Given the description of an element on the screen output the (x, y) to click on. 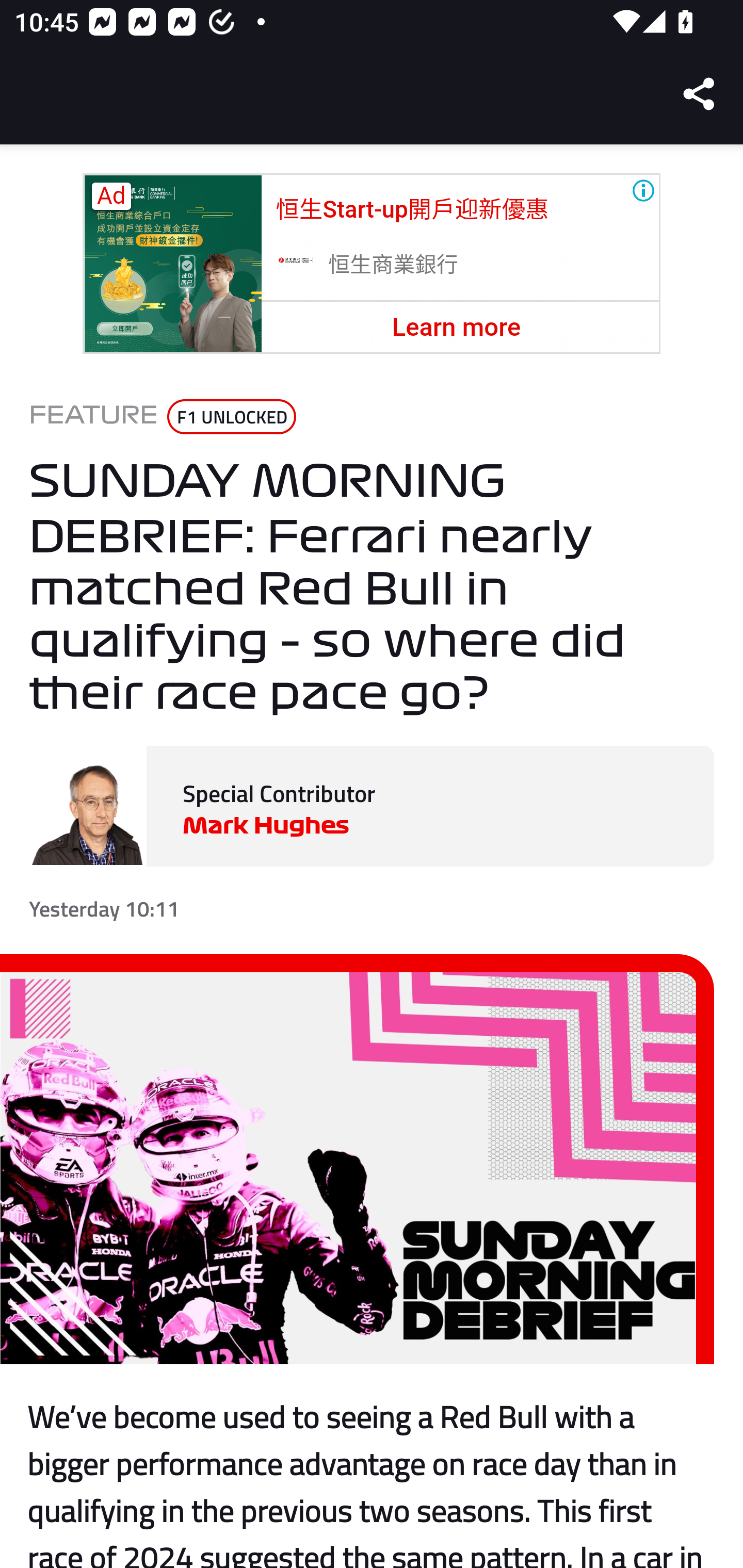
Share (699, 93)
index (172, 264)
恒生Start-up開戶迎新優惠 (411, 209)
index (295, 262)
恒生商業銀行 (393, 264)
Learn more (455, 327)
